Given the description of an element on the screen output the (x, y) to click on. 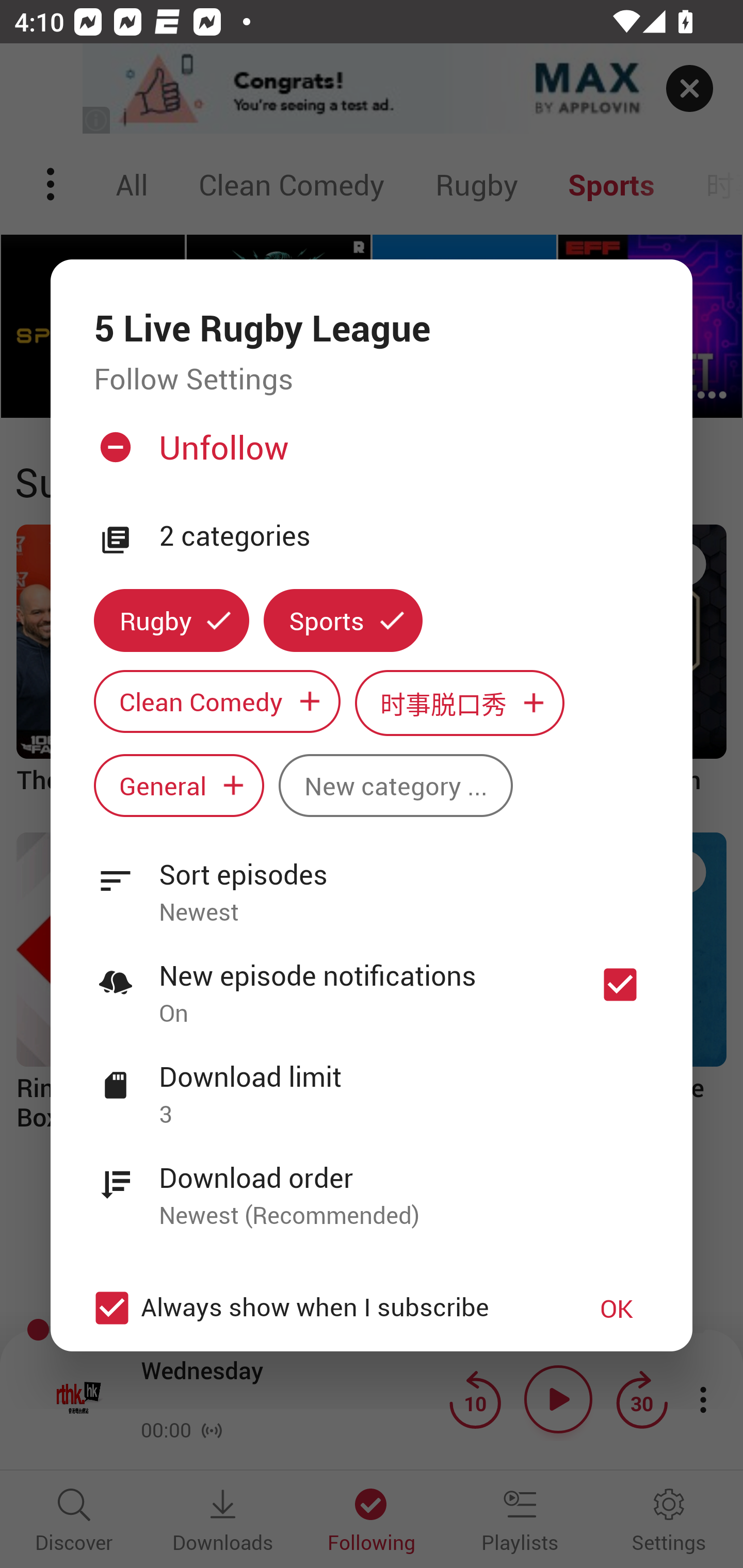
Unfollow (369, 454)
2 categories (404, 535)
Rugby (170, 620)
Sports (342, 620)
Clean Comedy (216, 700)
时事脱口秀 (459, 702)
General (178, 785)
New category ... (395, 785)
Sort episodes Newest (371, 881)
New episode notifications (620, 984)
Download limit 3 (371, 1084)
Download order Newest (Recommended) (371, 1185)
OK (616, 1308)
Always show when I subscribe (320, 1308)
